Given the description of an element on the screen output the (x, y) to click on. 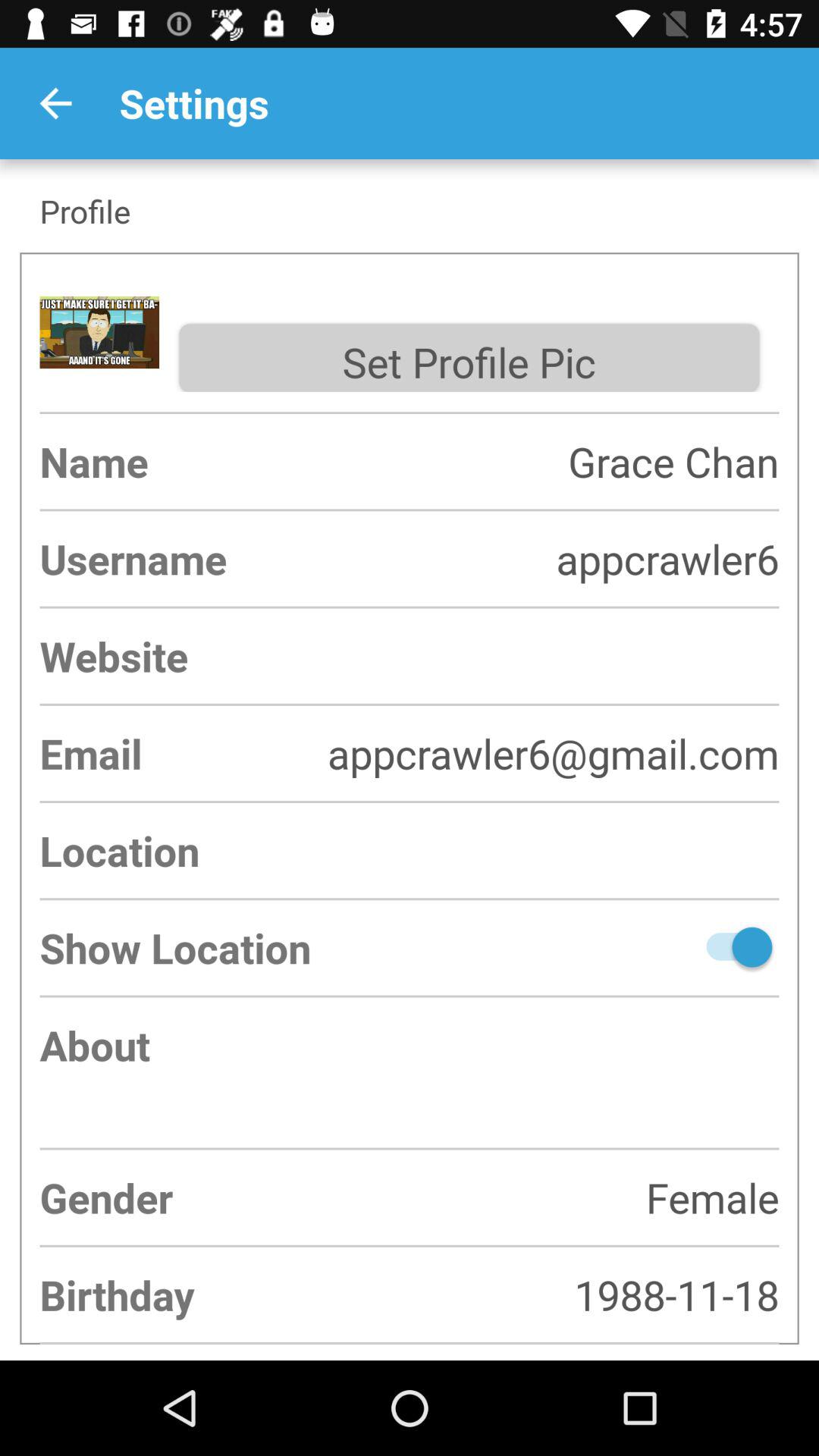
turn off icon above profile item (55, 103)
